Given the description of an element on the screen output the (x, y) to click on. 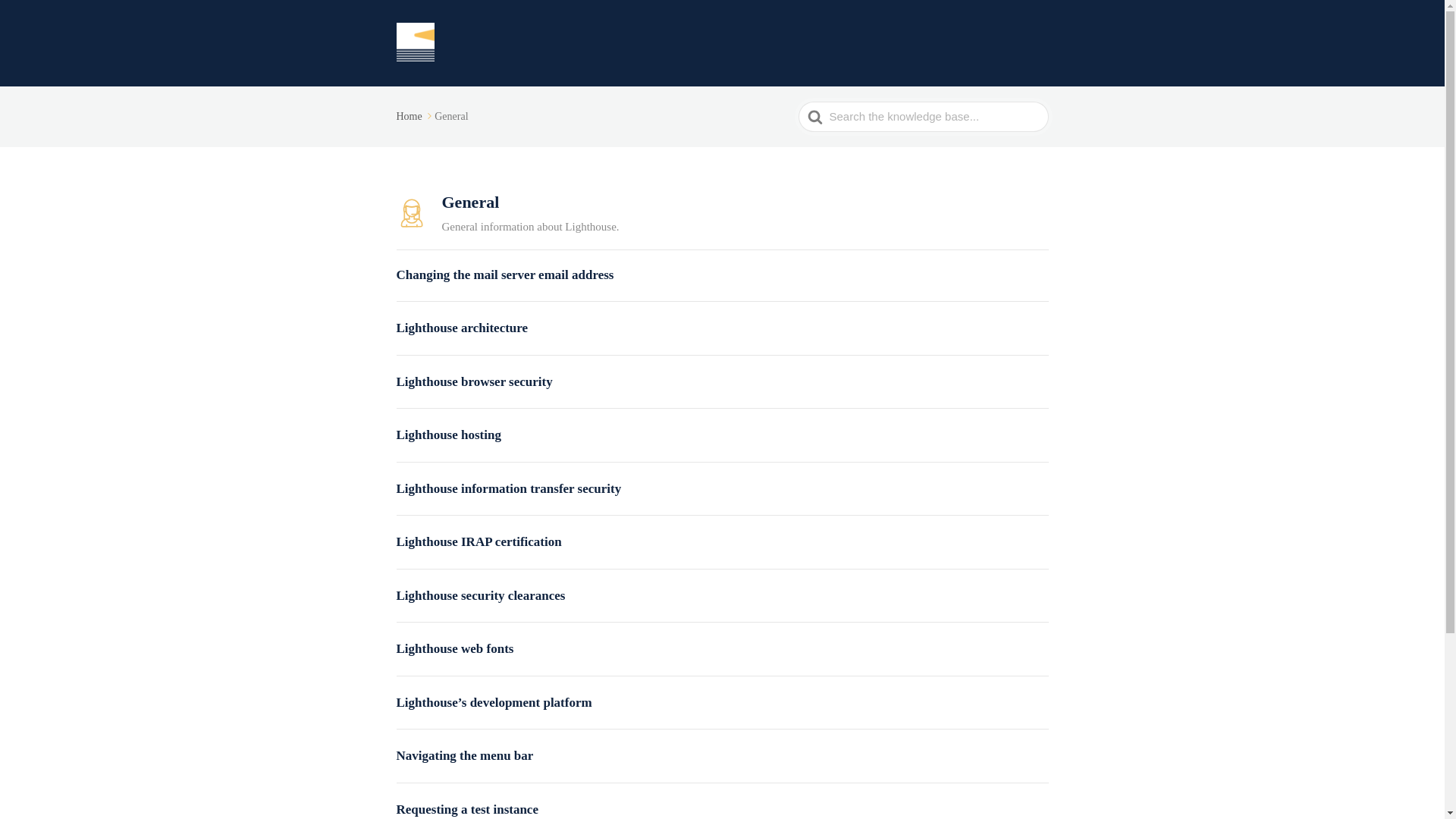
Lighthouse browser security (722, 382)
Lighthouse architecture (722, 328)
Lighthouse information transfer security (722, 488)
Requesting a test instance (722, 809)
Lighthouse web fonts (722, 649)
Lighthouse hosting (722, 435)
Changing the mail server email address (722, 275)
Lighthouse IRAP certification (722, 542)
Lighthouse security clearances (722, 596)
Home (414, 116)
